Given the description of an element on the screen output the (x, y) to click on. 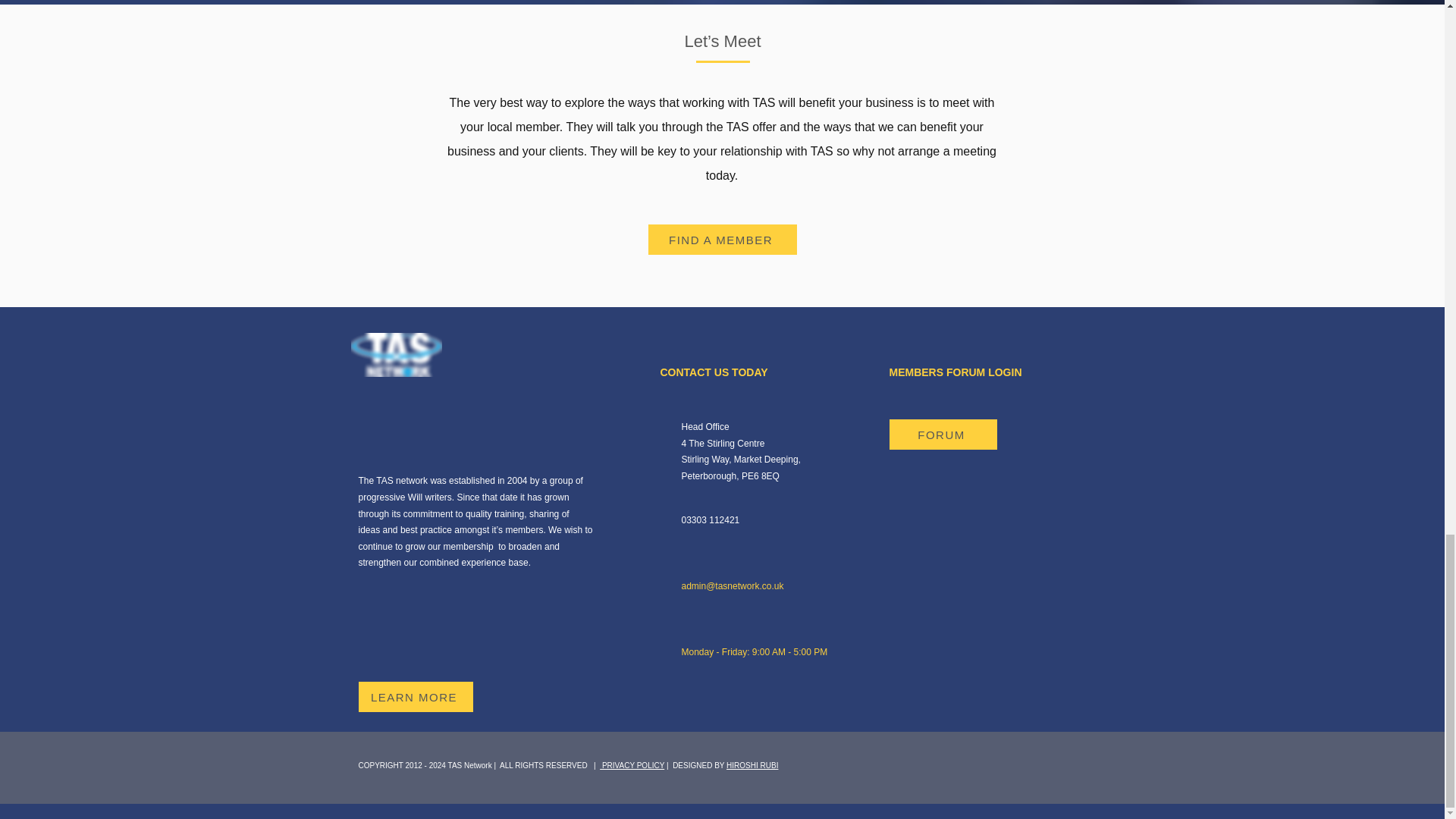
LEARN MORE (414, 696)
HIROSHI RUBI (751, 765)
 PRIVACY POLICY (631, 765)
FIND A MEMBER (721, 239)
FORUM (941, 434)
Monday - Friday: 9:00 AM - 5:00 PM (754, 652)
TAS-logo-rev-e1519823673818.png (395, 354)
